Given the description of an element on the screen output the (x, y) to click on. 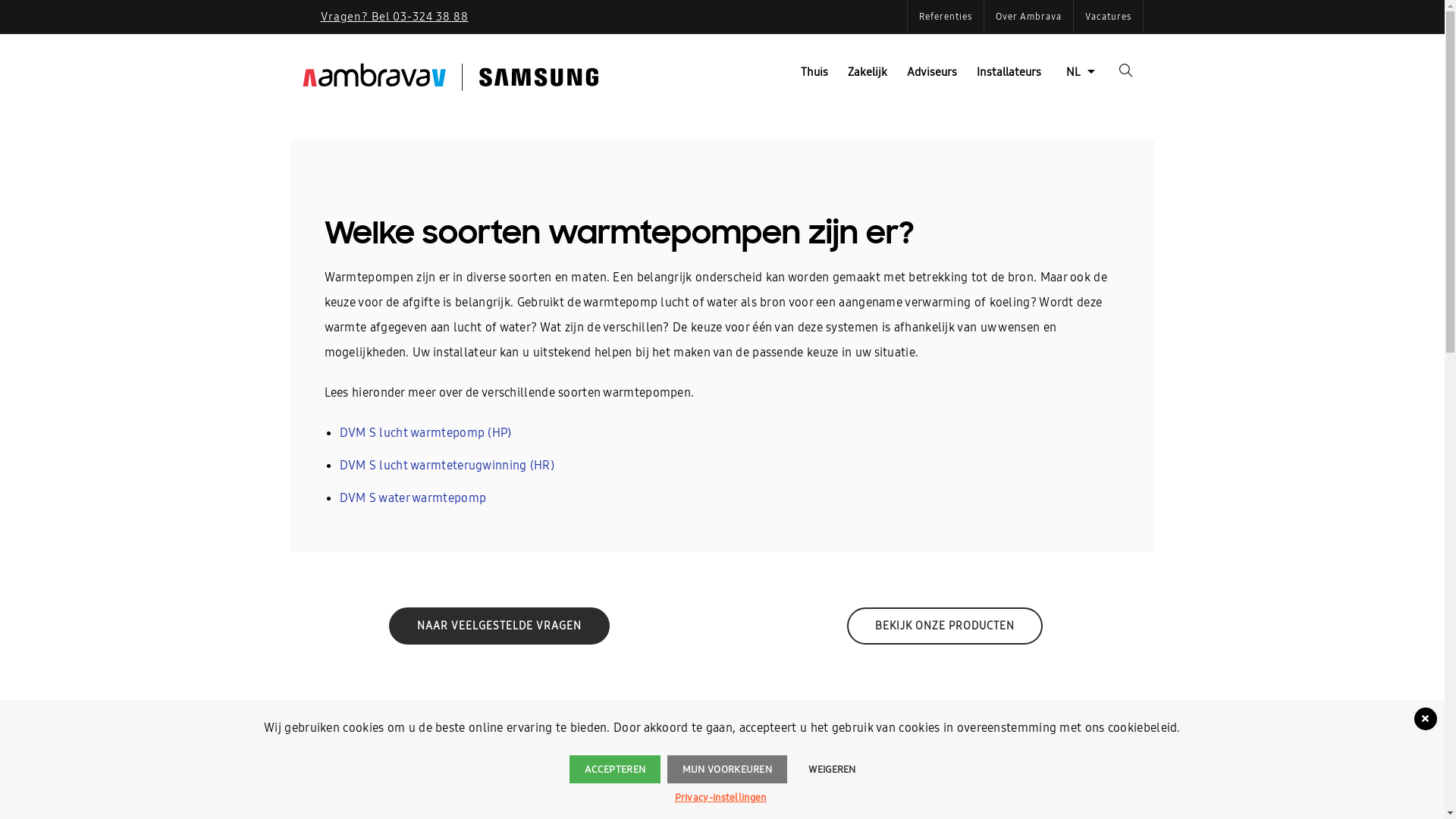
Adviseurs Element type: text (931, 71)
Over Ambrava Element type: text (1028, 16)
Thuis Element type: text (813, 71)
MIJN VOORKEUREN Element type: text (727, 769)
Referenties Element type: text (944, 16)
Vacatures Element type: text (1107, 16)
Vragen? Bel 03-324 38 88 Element type: text (393, 16)
Zakelijk Element type: text (866, 71)
BEKIJK ONZE PRODUCTEN Element type: text (944, 624)
Installateurs Element type: text (1008, 71)
DVM S lucht warmteterugwinning (HR) Element type: text (447, 465)
DVM S lucht warmtepomp (HP) Element type: text (425, 432)
WEIGEREN Element type: text (831, 769)
NAAR VEELGESTELDE VRAGEN Element type: text (499, 624)
ACCEPTEREN Element type: text (614, 769)
Privacy-instellingen Element type: text (720, 796)
DVM S water warmtepomp Element type: text (412, 497)
